Given the description of an element on the screen output the (x, y) to click on. 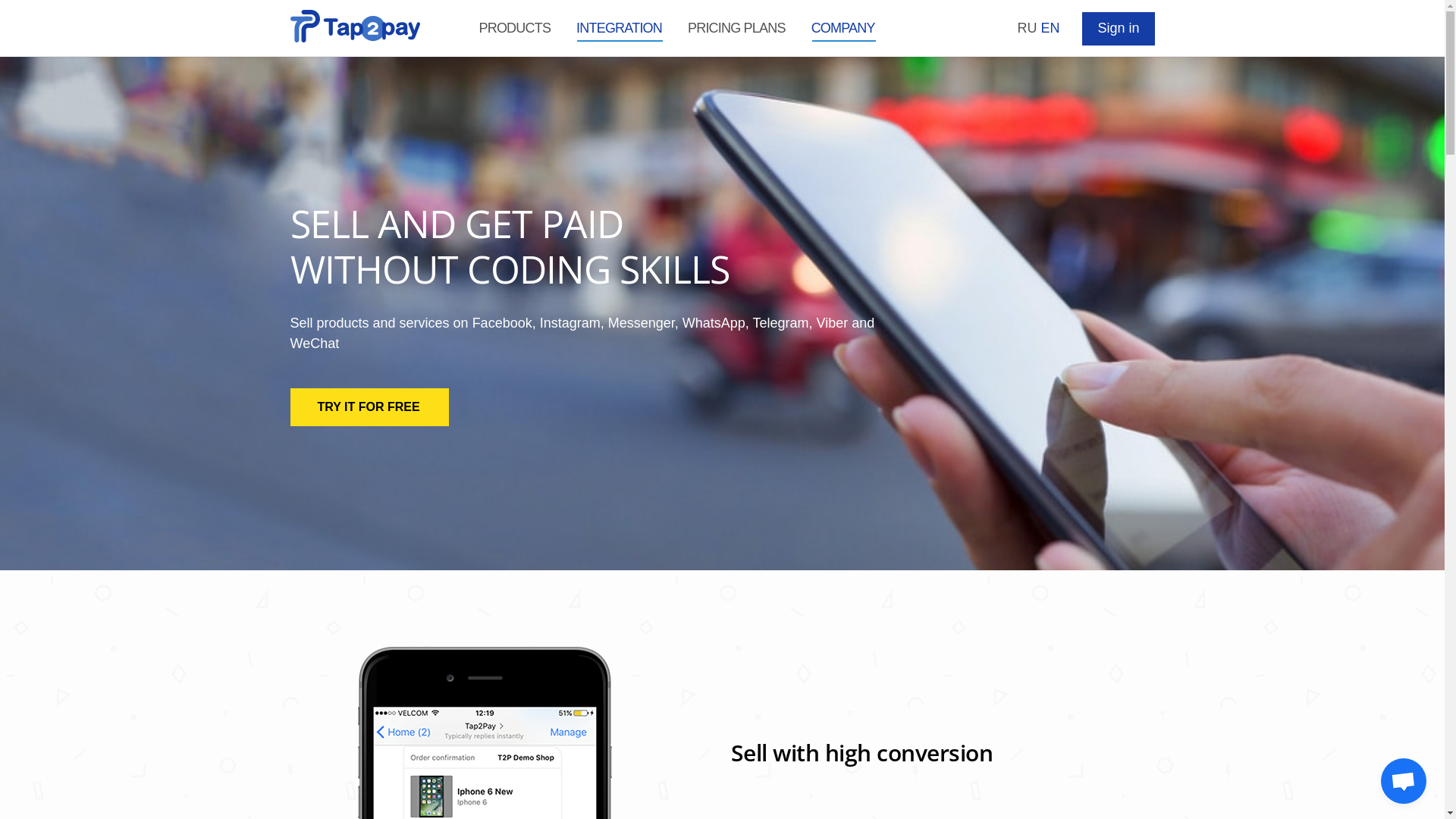
INTEGRATION Element type: text (618, 28)
EN Element type: text (1049, 27)
TRY IT FOR FREE Element type: text (368, 407)
PRODUCTS Element type: text (514, 28)
PRICING PLANS Element type: text (736, 28)
Sign in Element type: text (1118, 28)
COMPANY Element type: text (843, 28)
RU Element type: text (1026, 27)
